Given the description of an element on the screen output the (x, y) to click on. 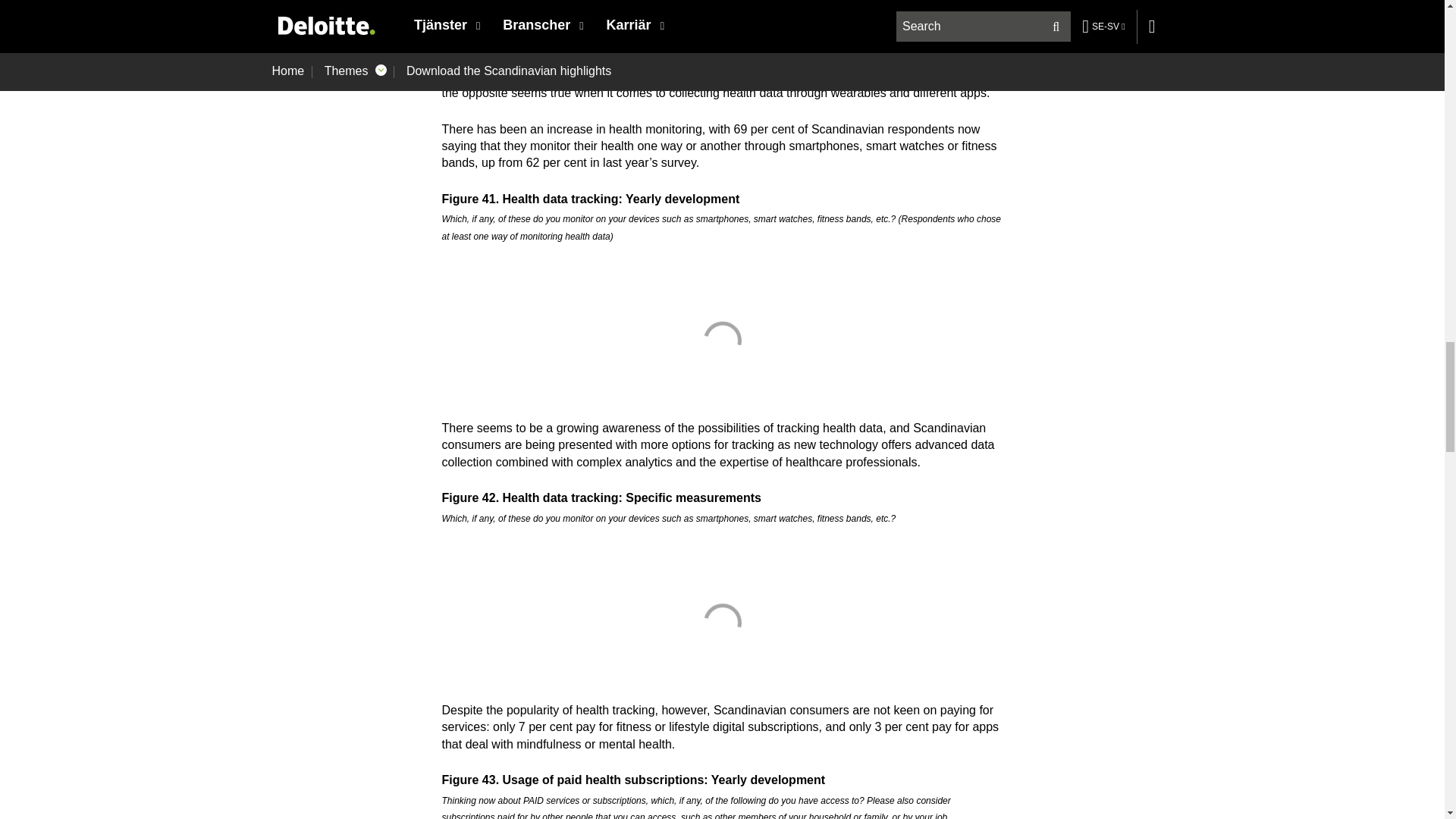
4.40 - Responsibility for keeping user data private (722, 3)
4.41 - Health data tracking: Yearly development (722, 340)
4.42 - Health data tracking: Specific measurements (722, 622)
